Given the description of an element on the screen output the (x, y) to click on. 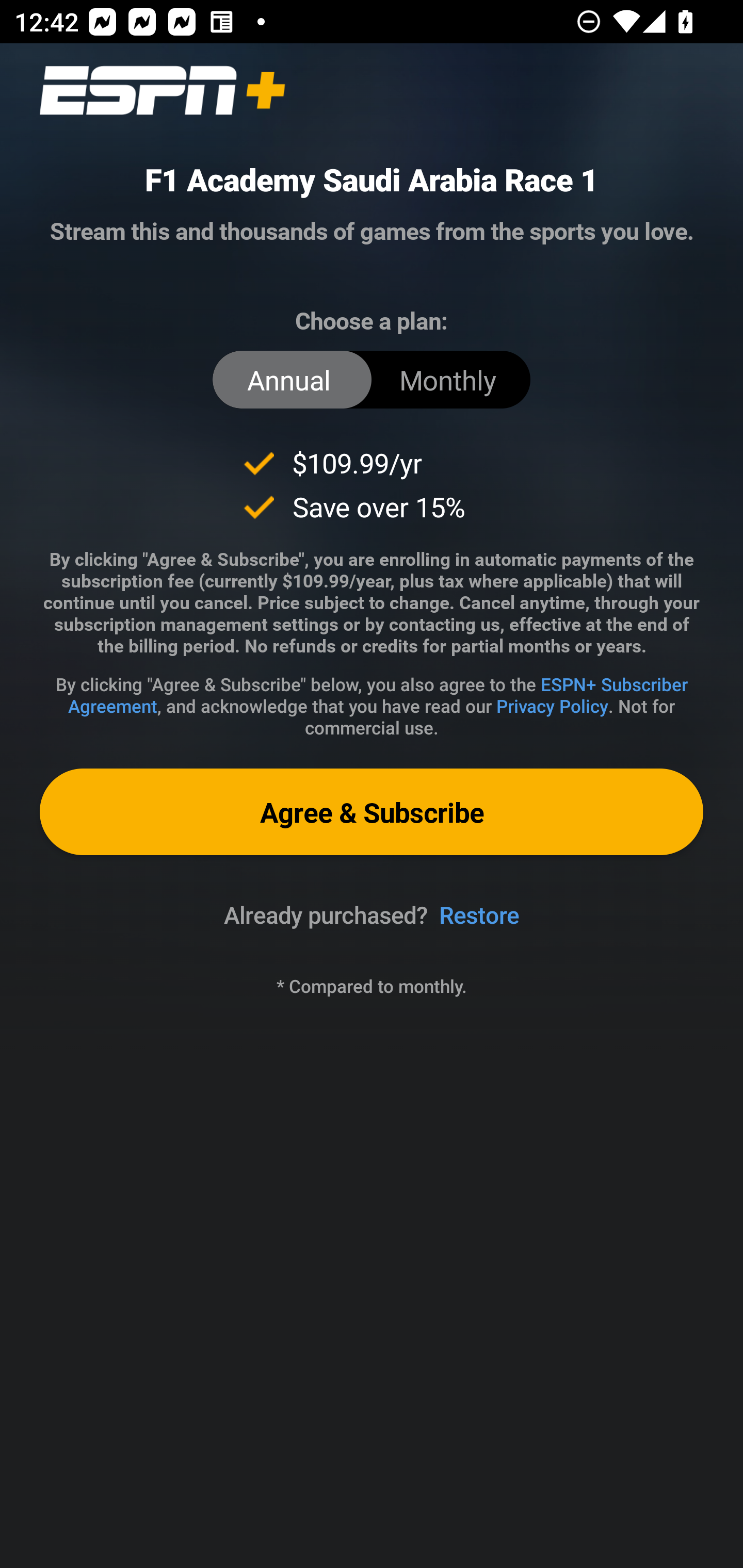
Agree & Subscribe (371, 811)
